Given the description of an element on the screen output the (x, y) to click on. 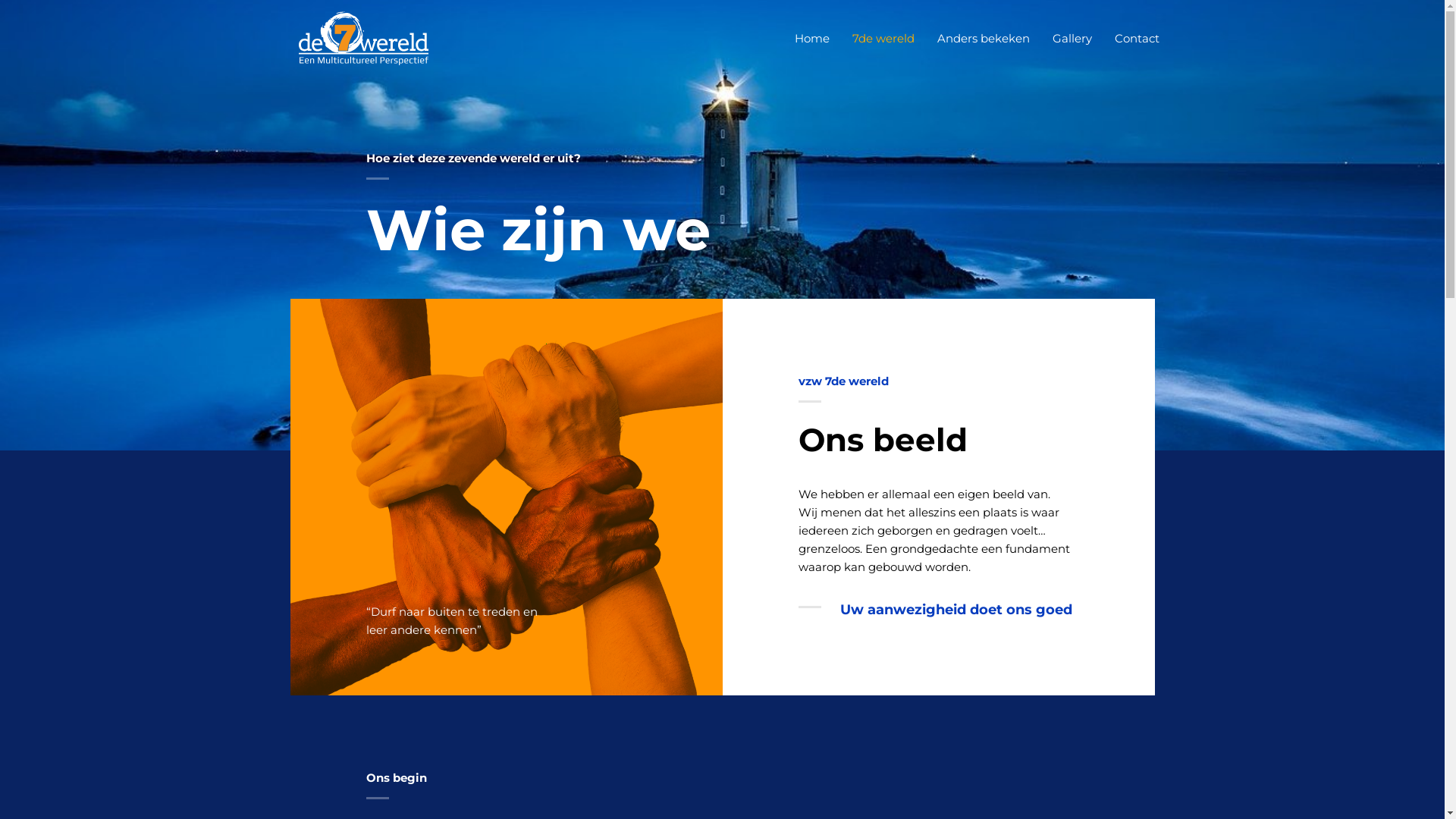
Home Element type: text (811, 38)
Gallery Element type: text (1072, 38)
Anders bekeken Element type: text (983, 38)
Contact Element type: text (1136, 38)
7de wereld Element type: text (882, 38)
